Given the description of an element on the screen output the (x, y) to click on. 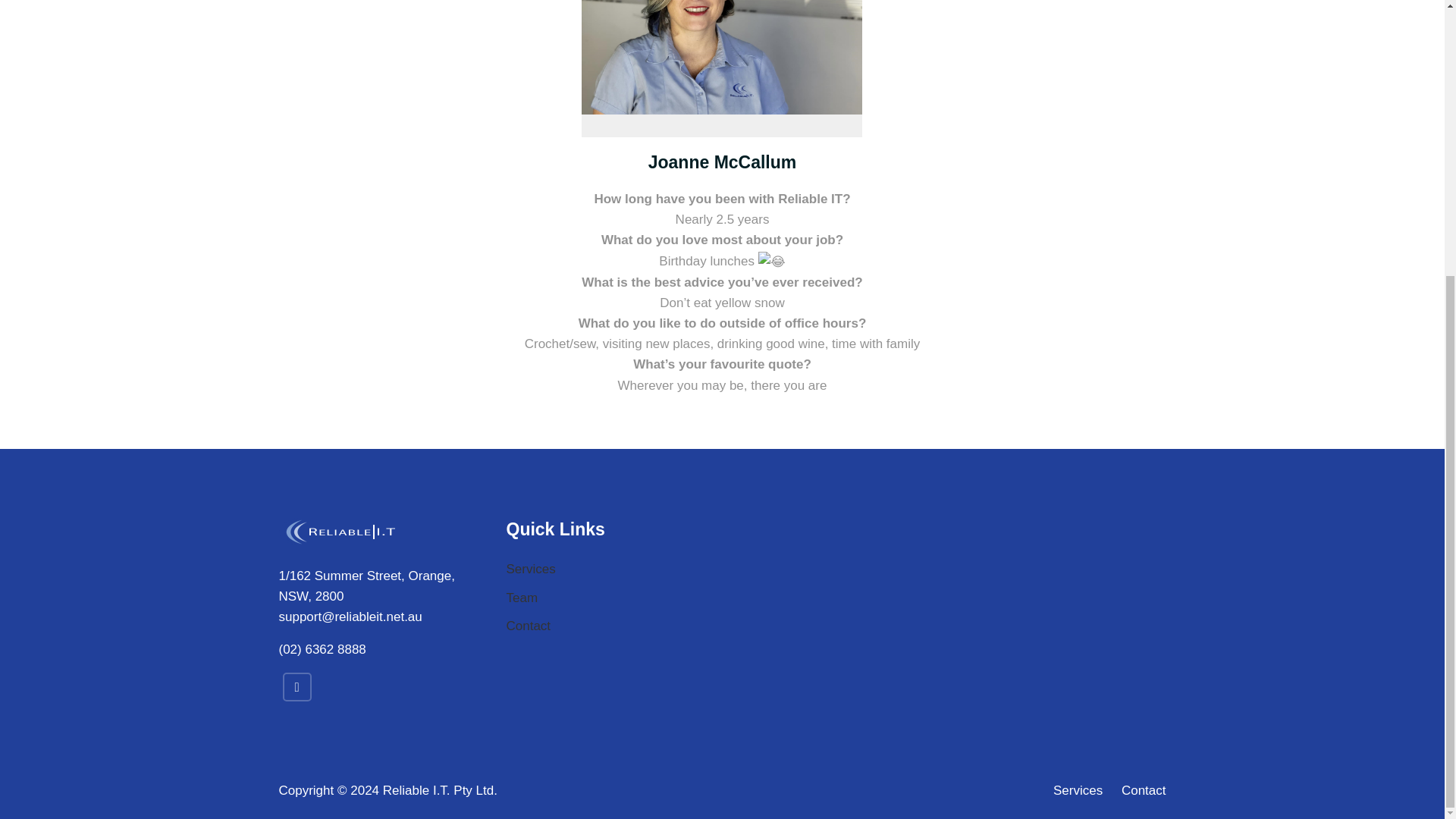
Contact (528, 626)
Team (522, 597)
Services (531, 568)
Facebook (296, 686)
Contact (1139, 790)
Services (1077, 790)
